Given the description of an element on the screen output the (x, y) to click on. 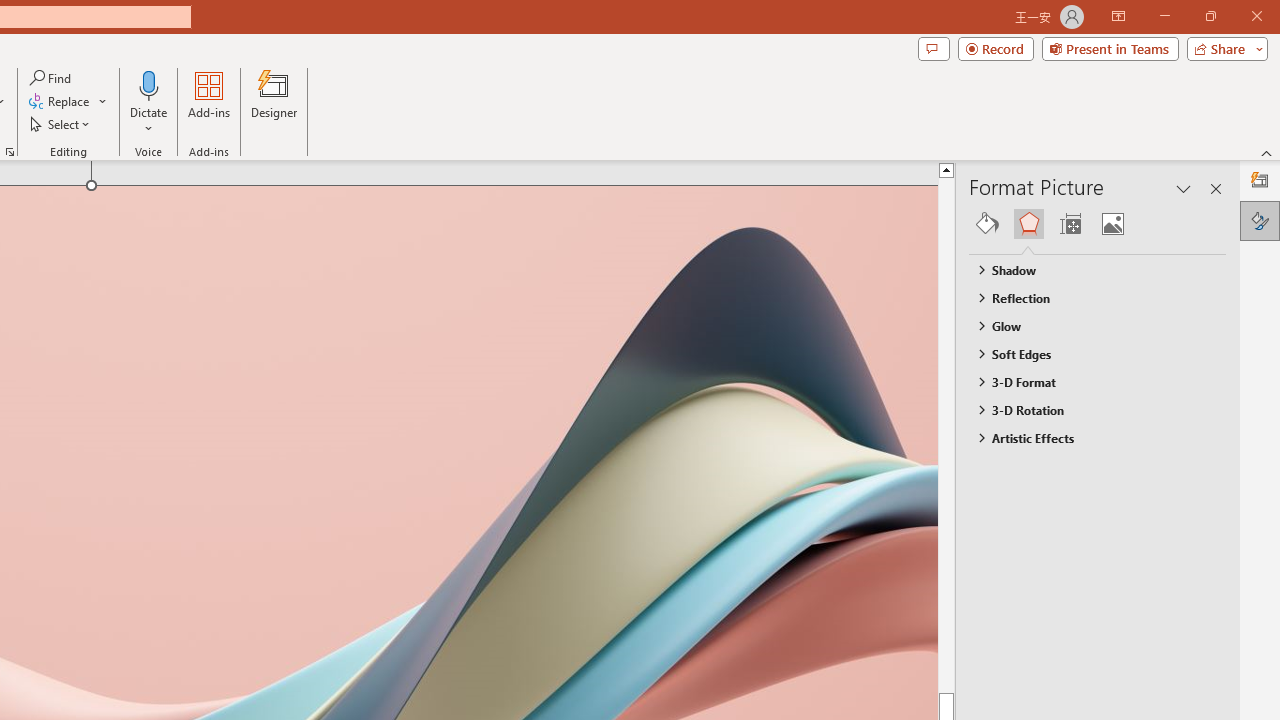
Picture (1112, 223)
Fill & Line (987, 223)
